Given the description of an element on the screen output the (x, y) to click on. 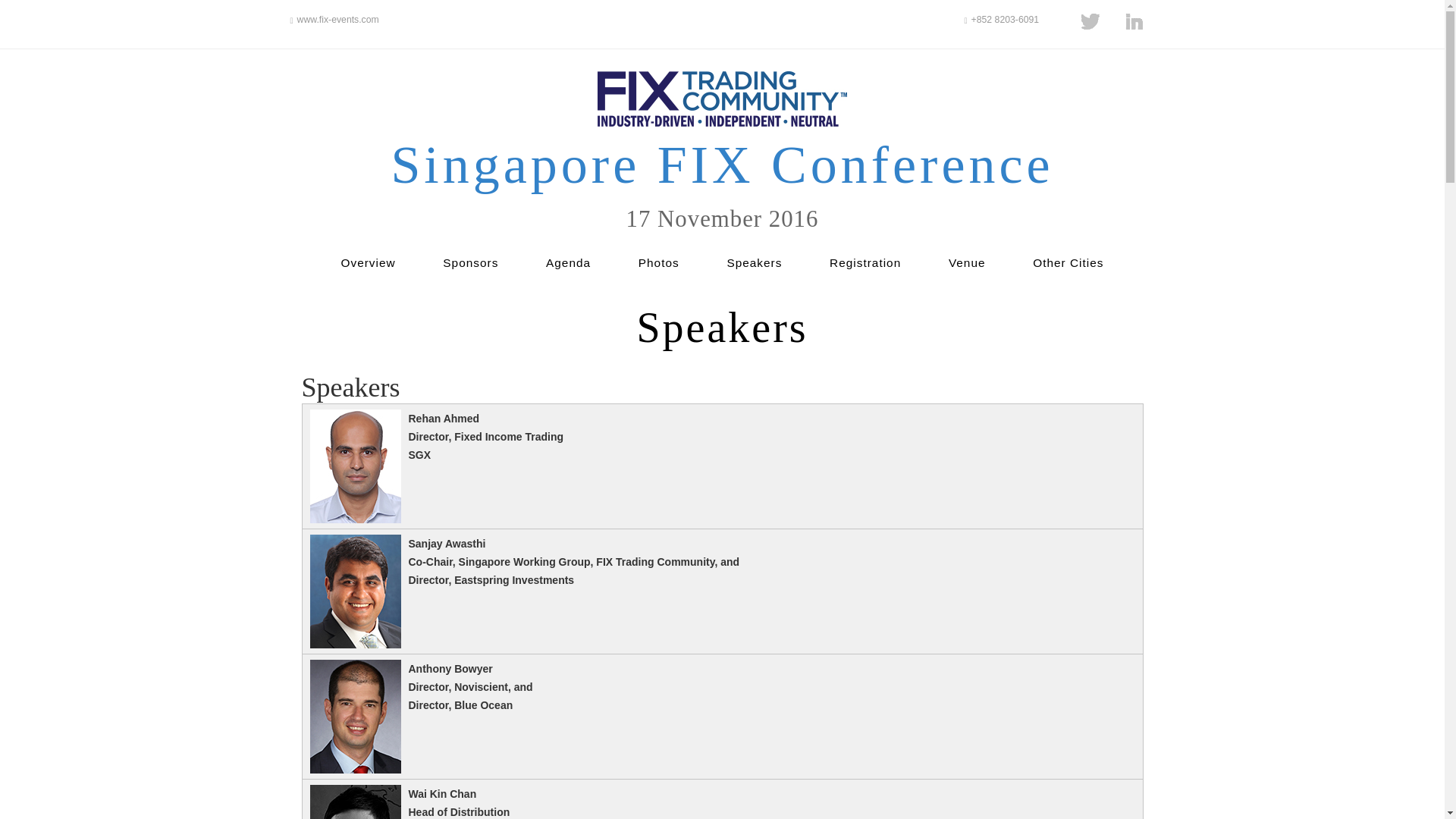
Registration (865, 263)
Sponsors (469, 263)
Other Cities (1067, 263)
Agenda (568, 263)
Photos (659, 263)
Venue (967, 263)
Speakers (753, 263)
Overview (368, 263)
